Given the description of an element on the screen output the (x, y) to click on. 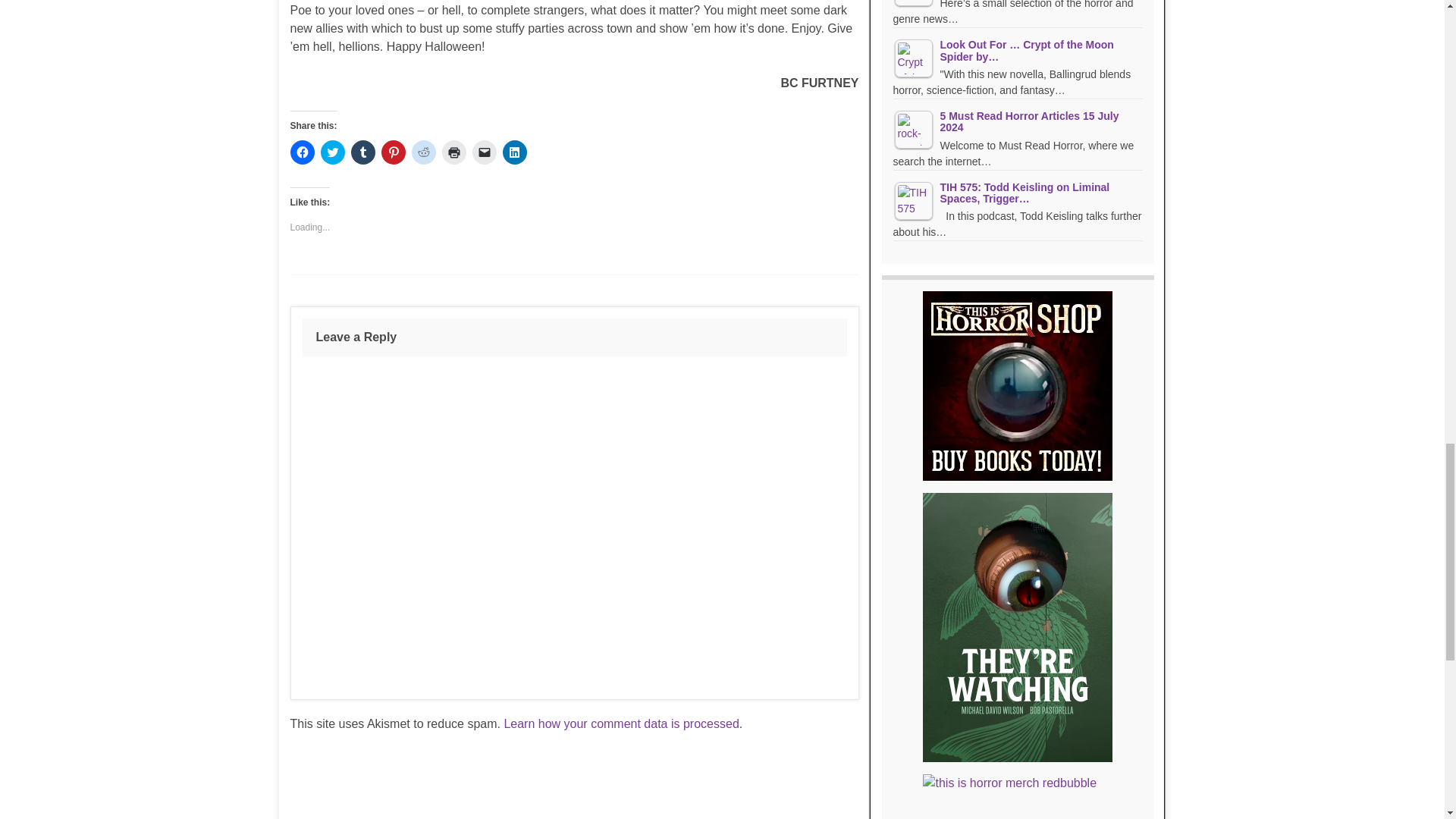
Click to print (453, 152)
Learn how your comment data is processed (620, 723)
Click to share on Tumblr (362, 152)
Click to share on Pinterest (392, 152)
Click to share on Facebook (301, 152)
Click to share on Reddit (422, 152)
Click to share on Twitter (331, 152)
